Given the description of an element on the screen output the (x, y) to click on. 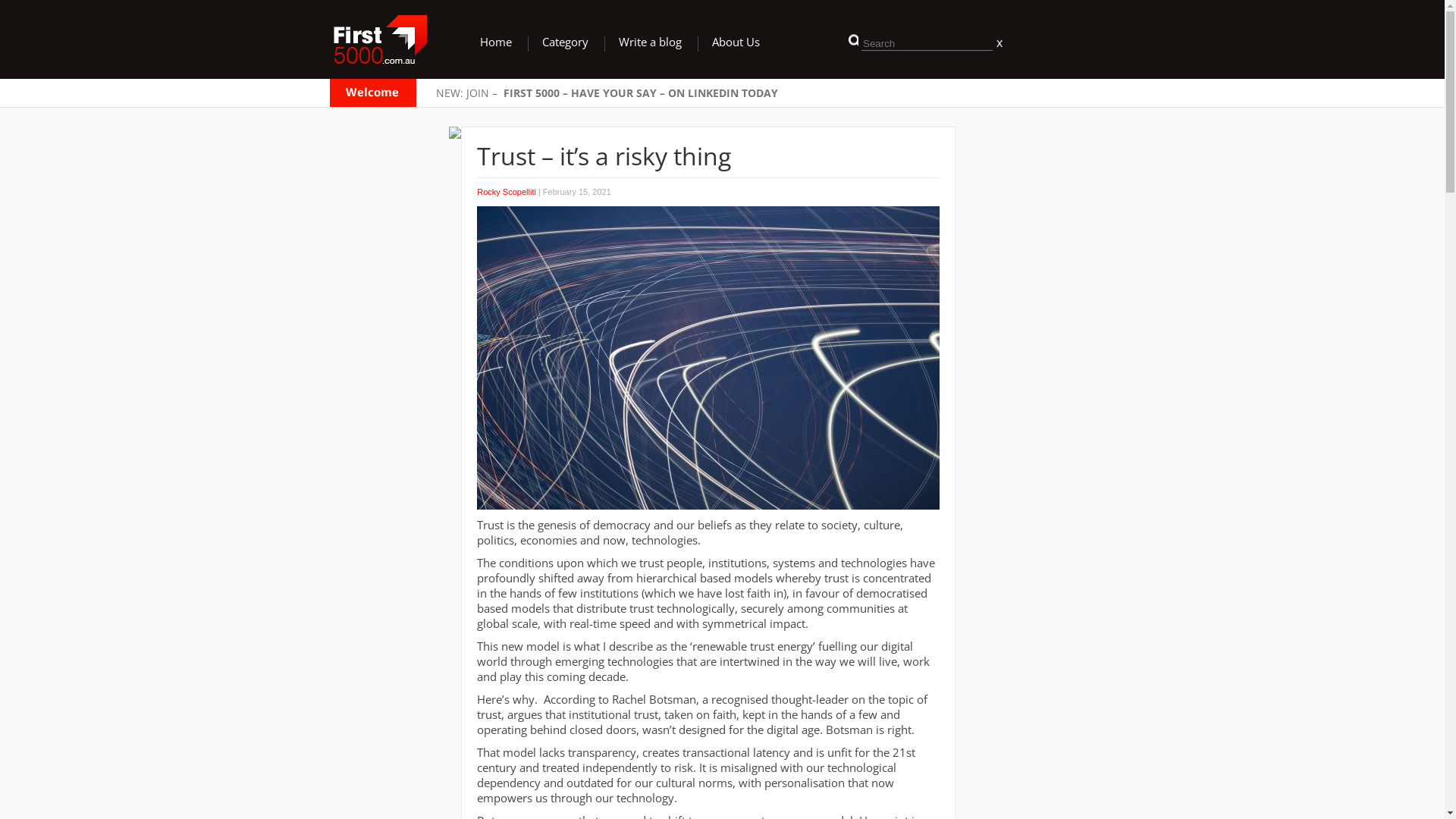
Category Element type: text (565, 41)
Rocky Scopelliti Element type: text (506, 191)
Write a blog Element type: text (649, 41)
Home Element type: text (495, 41)
x Element type: text (997, 42)
About Us Element type: text (735, 41)
